Given the description of an element on the screen output the (x, y) to click on. 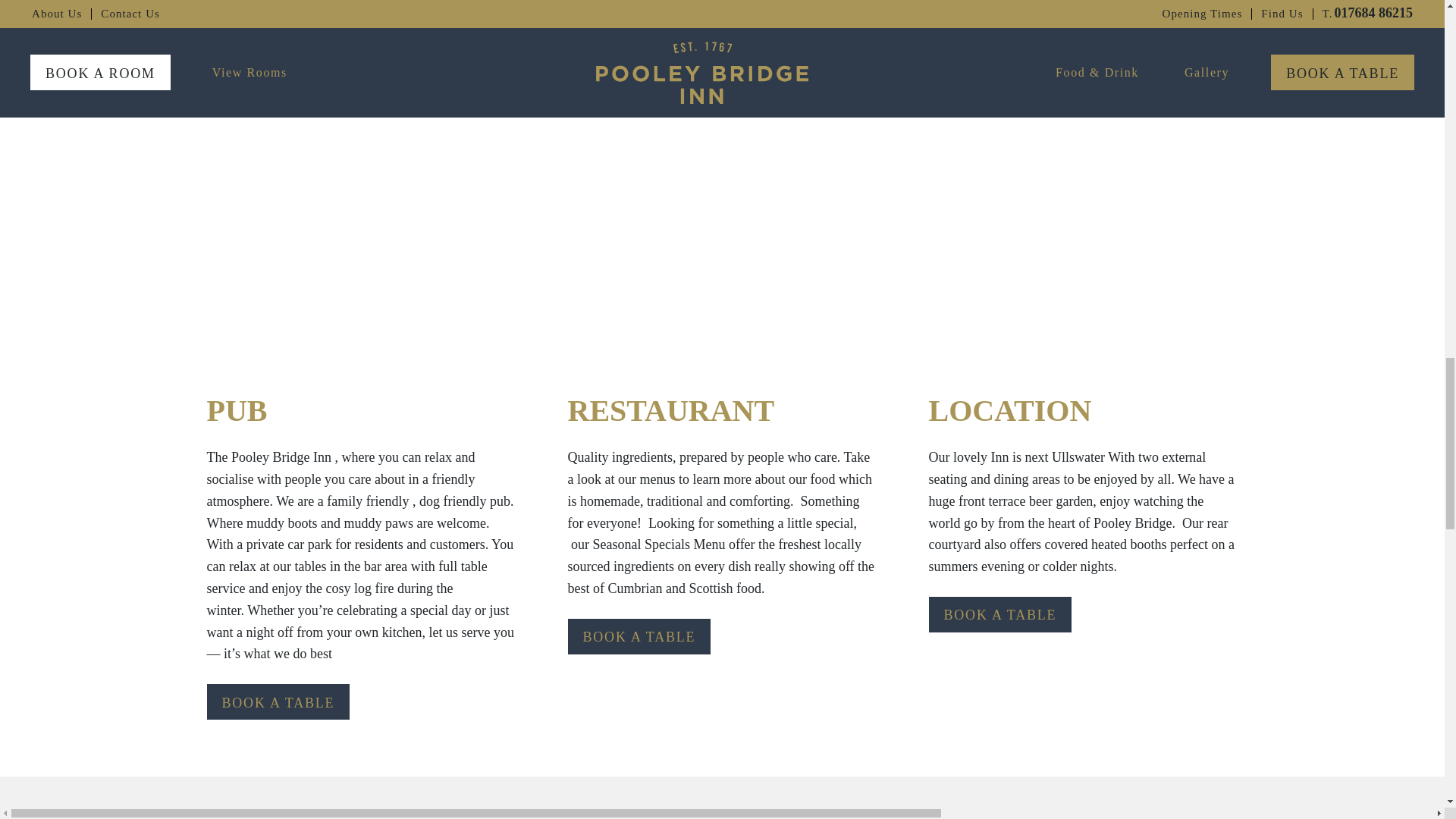
BOOK A TABLE (638, 636)
BOOK A TABLE (277, 701)
BOOK A TABLE (999, 614)
